Given the description of an element on the screen output the (x, y) to click on. 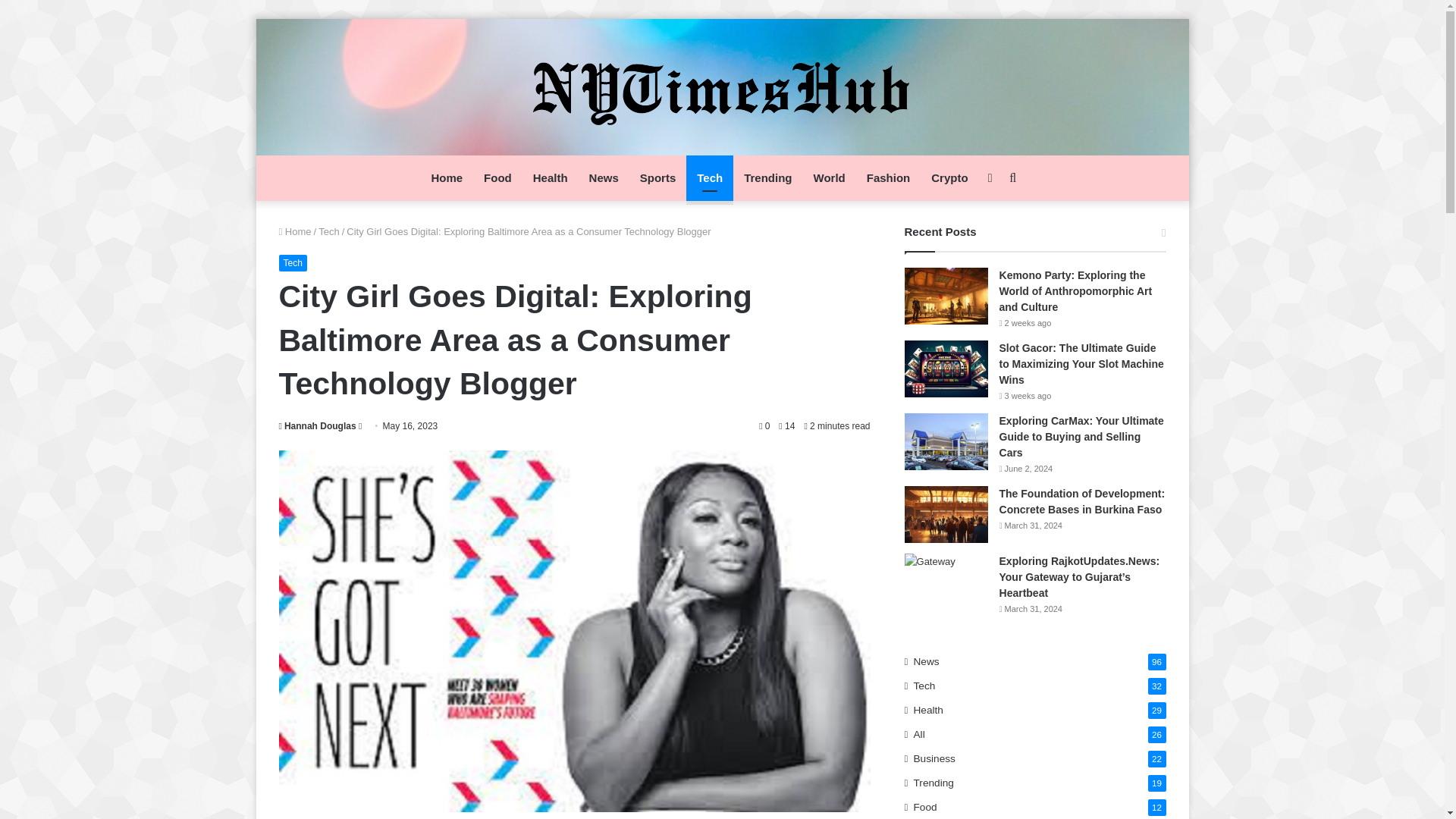
Sports (657, 177)
Tech (293, 262)
NyTimesHub (722, 87)
Hannah Douglas (317, 425)
Home (295, 231)
Crypto (949, 177)
Food (497, 177)
Tech (328, 231)
Tech (709, 177)
News (603, 177)
